Given the description of an element on the screen output the (x, y) to click on. 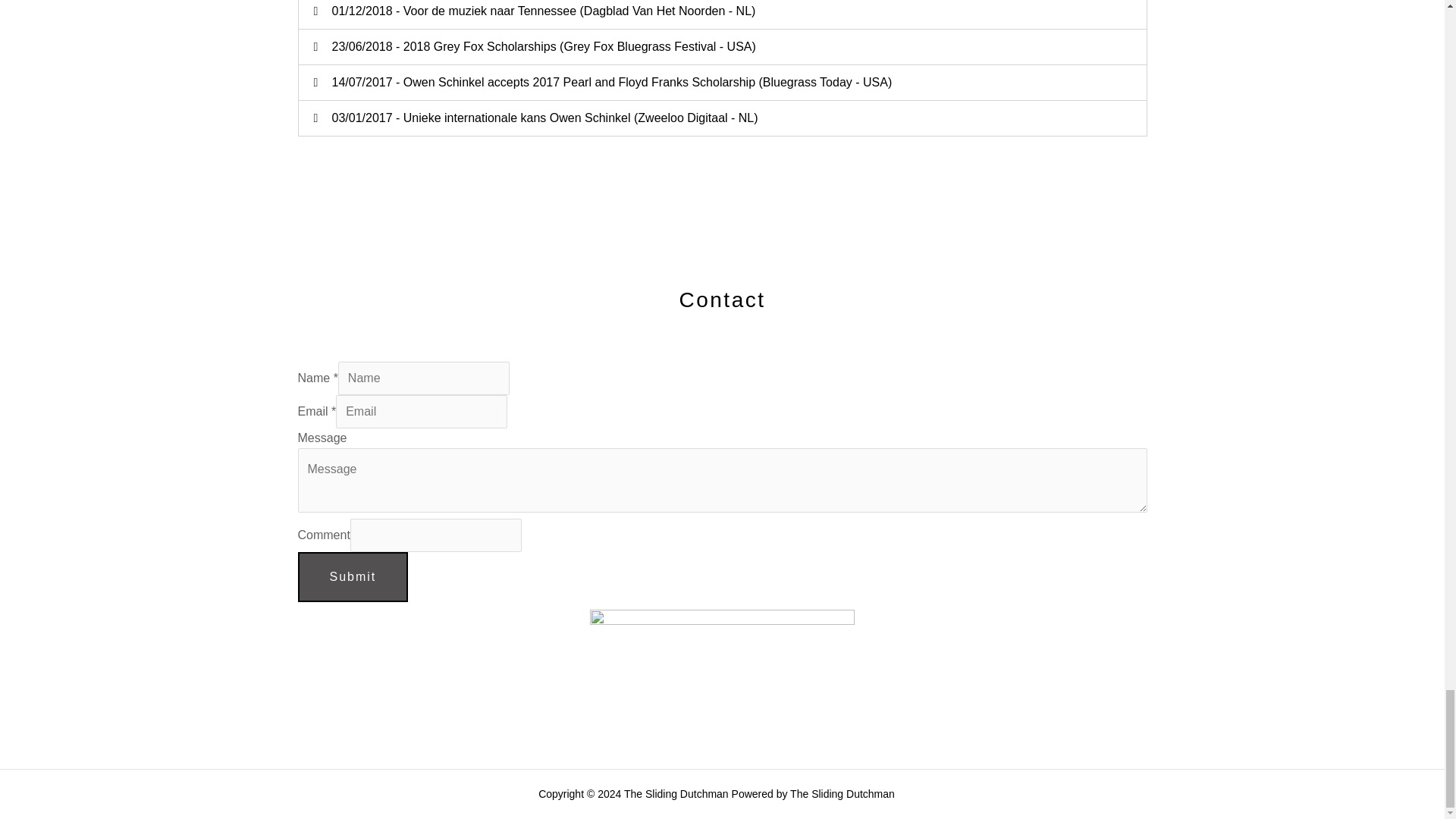
Submit (352, 576)
